Given the description of an element on the screen output the (x, y) to click on. 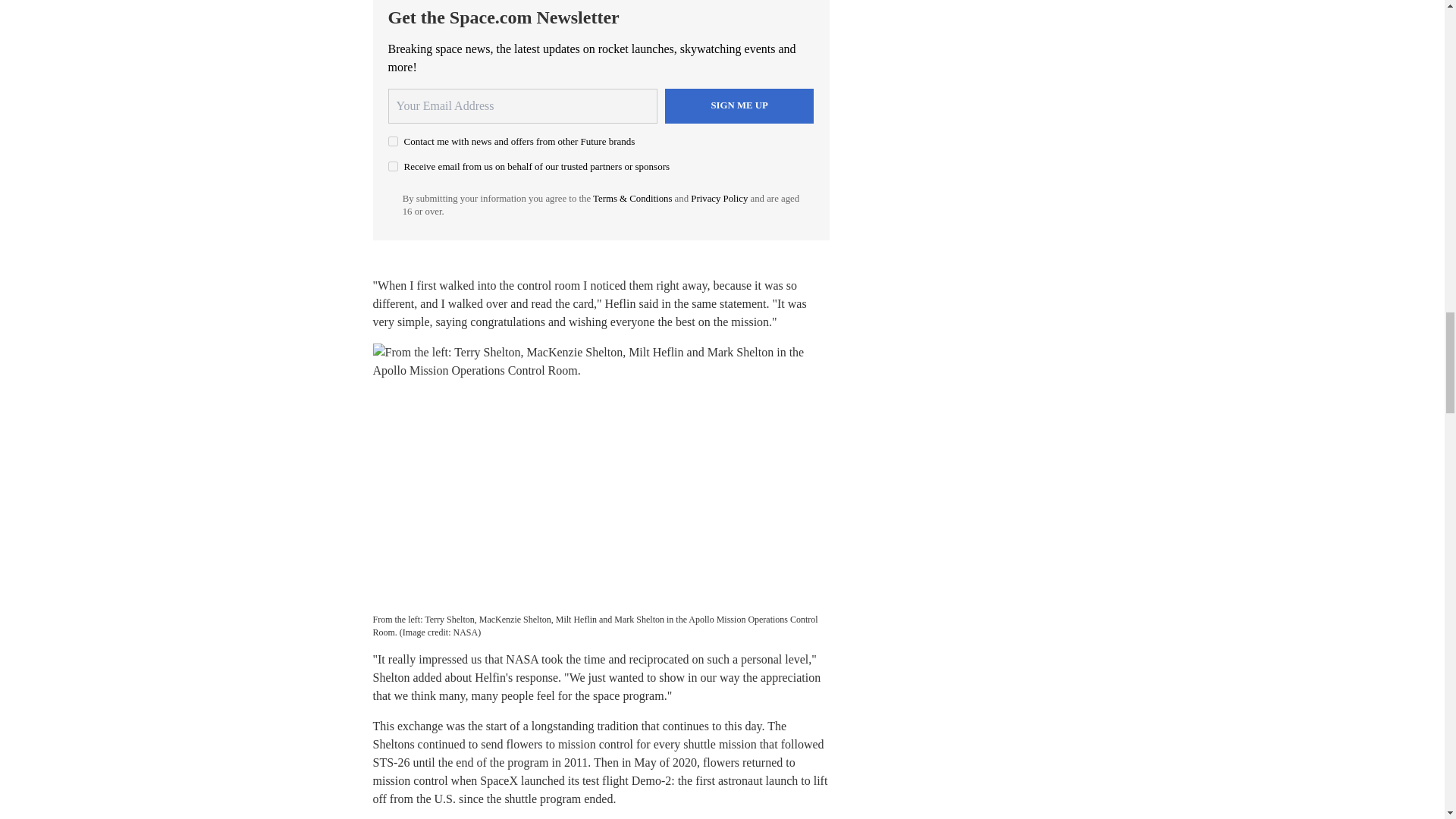
Sign me up (739, 105)
on (392, 141)
on (392, 166)
